Given the description of an element on the screen output the (x, y) to click on. 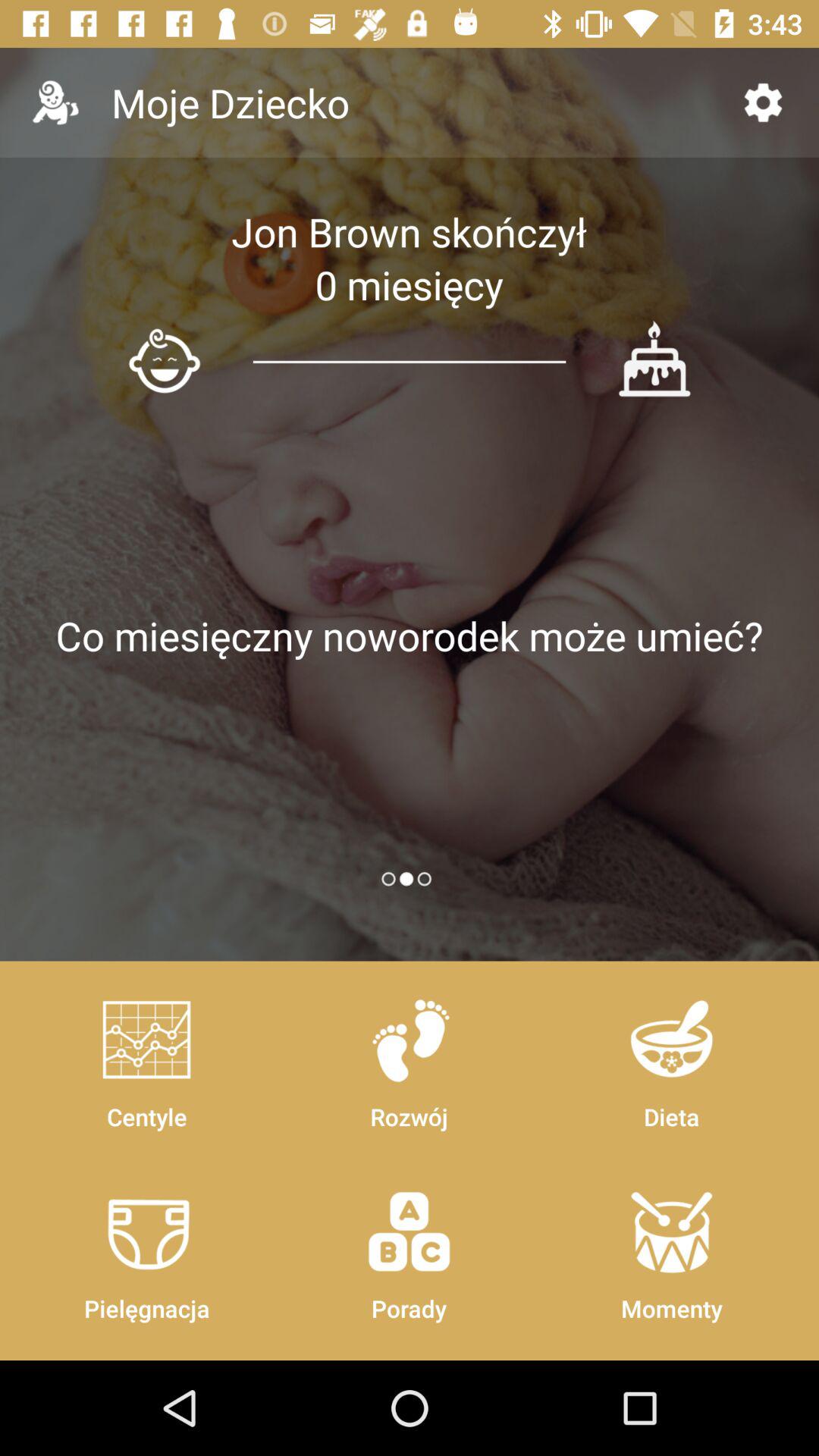
turn on the item to the right of centyle item (409, 1248)
